Given the description of an element on the screen output the (x, y) to click on. 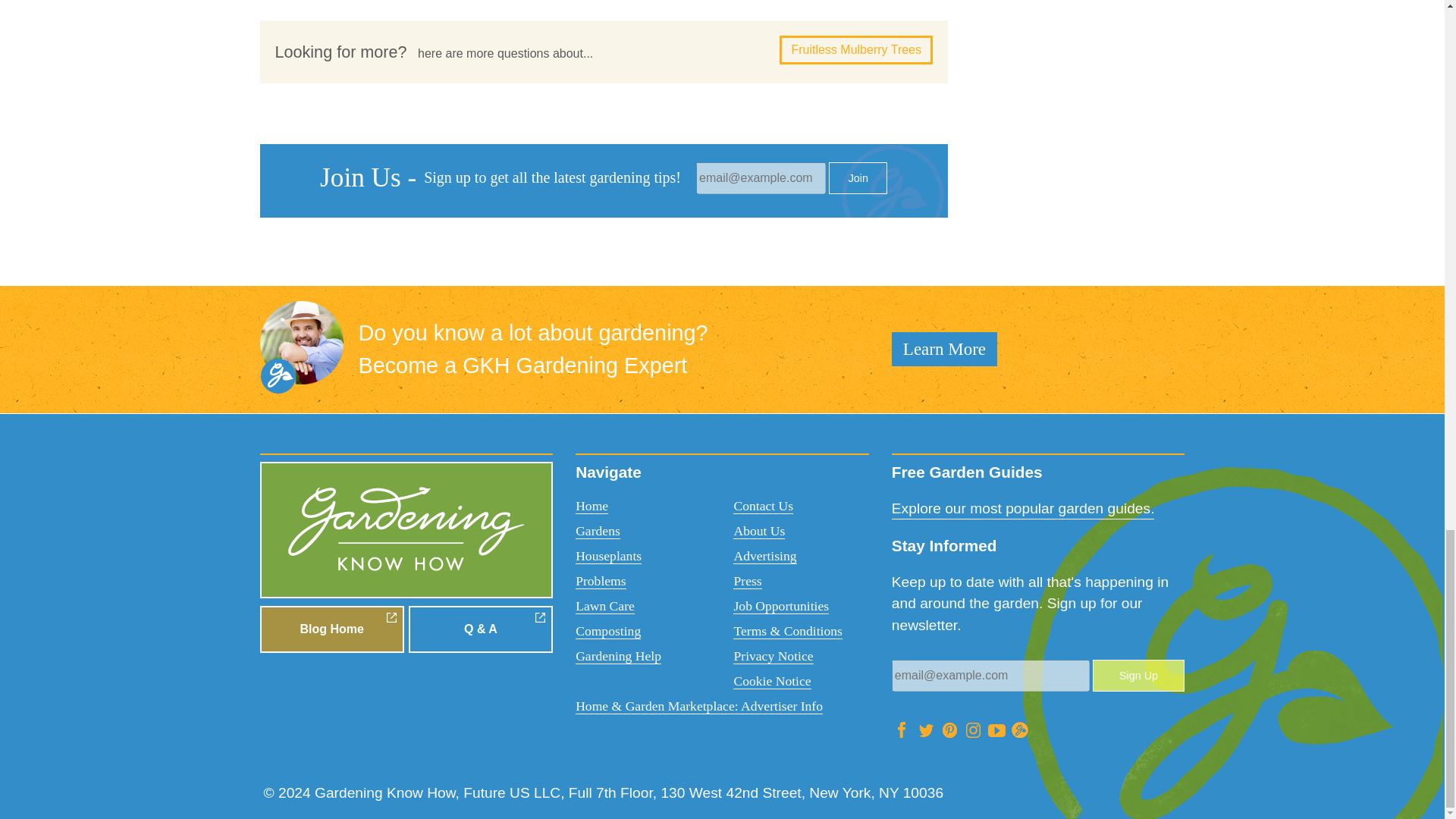
Join (857, 178)
Fruitless Mulberry Trees (855, 50)
